Given the description of an element on the screen output the (x, y) to click on. 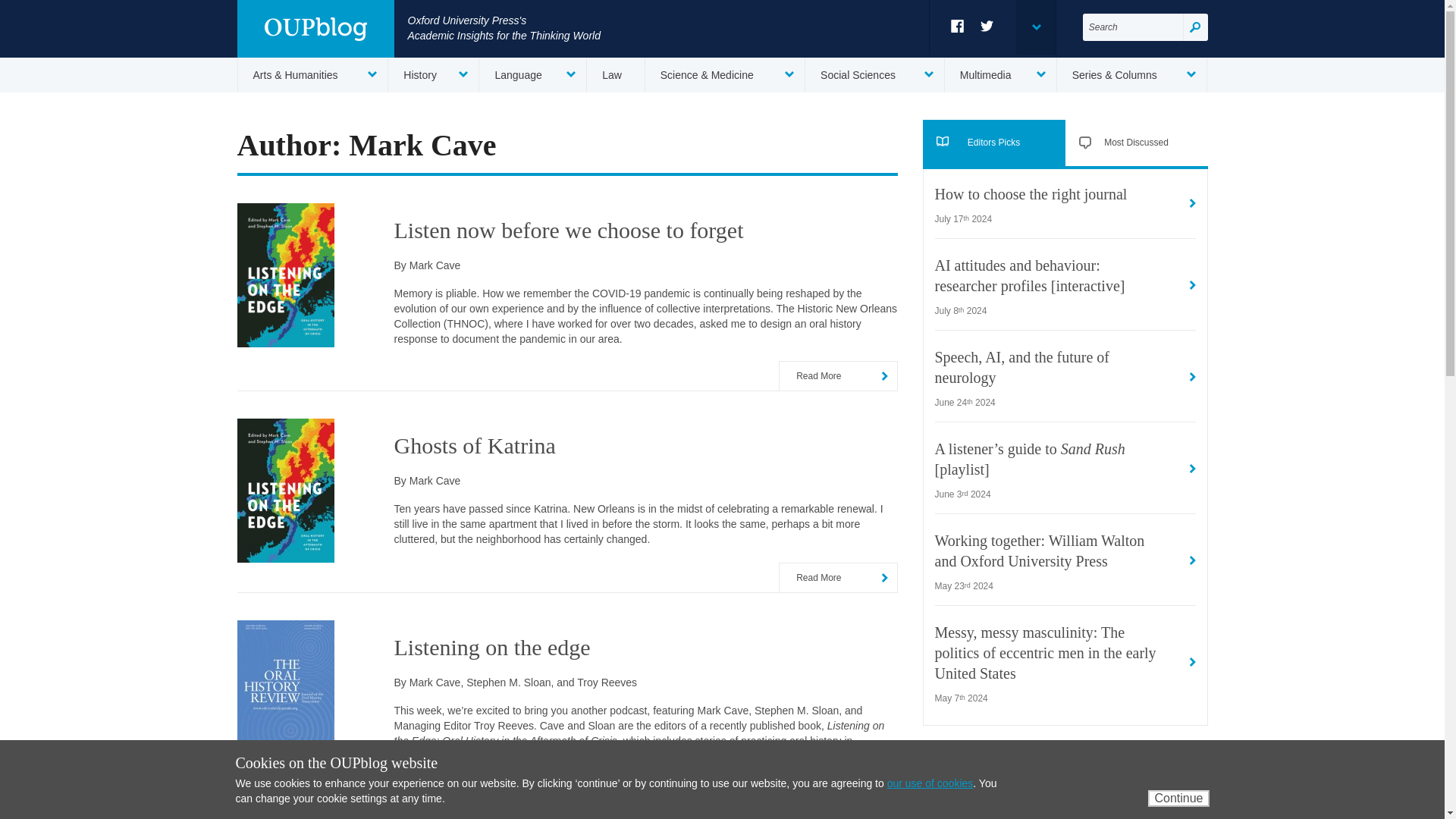
Toggle Social Menu (1035, 27)
History (433, 74)
Subscribe (1154, 805)
our use of cookies (930, 783)
Continue (1178, 798)
Facebook (957, 25)
Language (532, 74)
Twitter (986, 25)
Search (1195, 26)
Search for: (1132, 26)
